Given the description of an element on the screen output the (x, y) to click on. 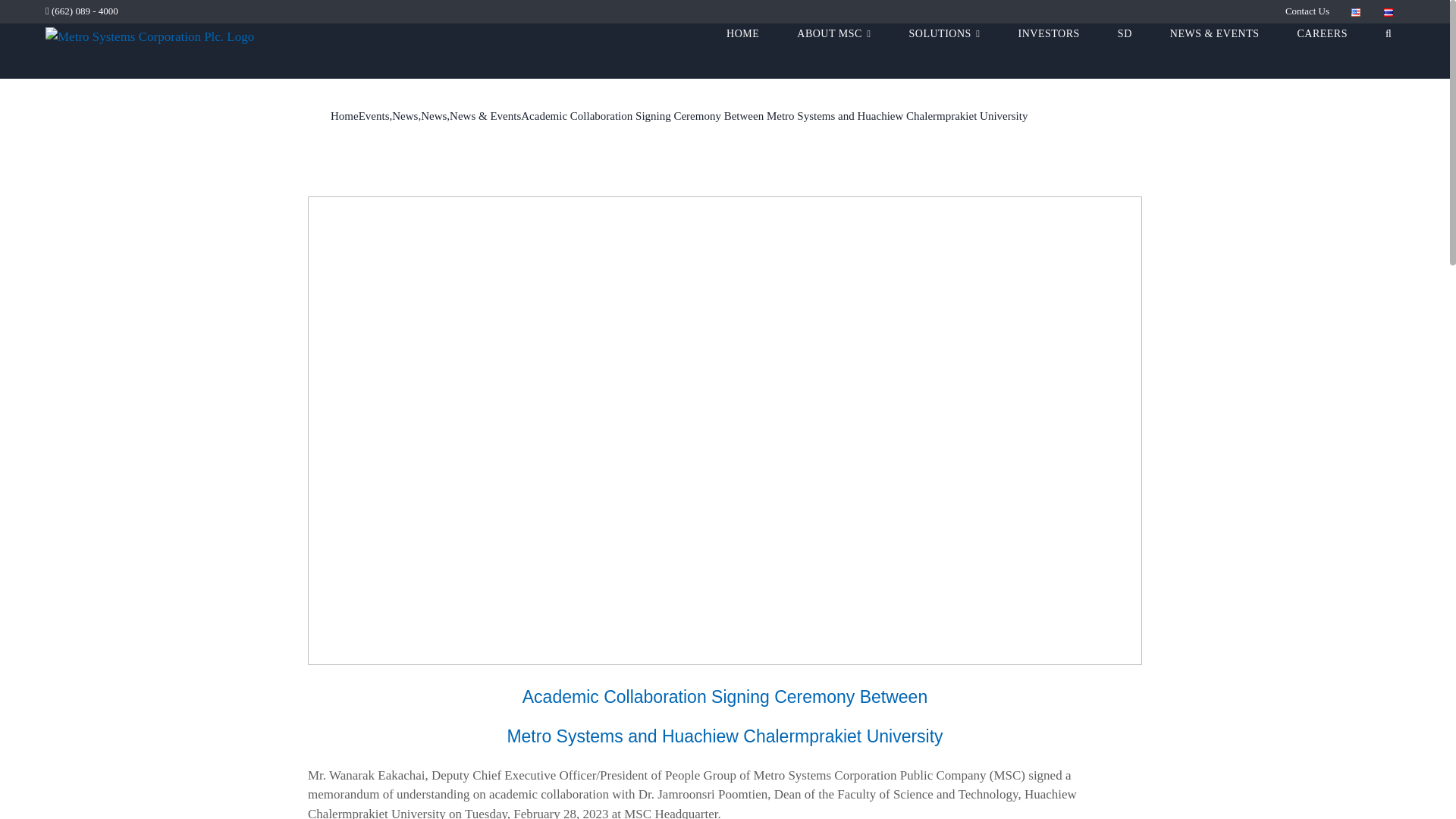
ABOUT MSC (833, 51)
SOLUTIONS (943, 51)
Contact Us (1307, 11)
ABOUT MSC (833, 51)
Contact Us (1307, 11)
